Given the description of an element on the screen output the (x, y) to click on. 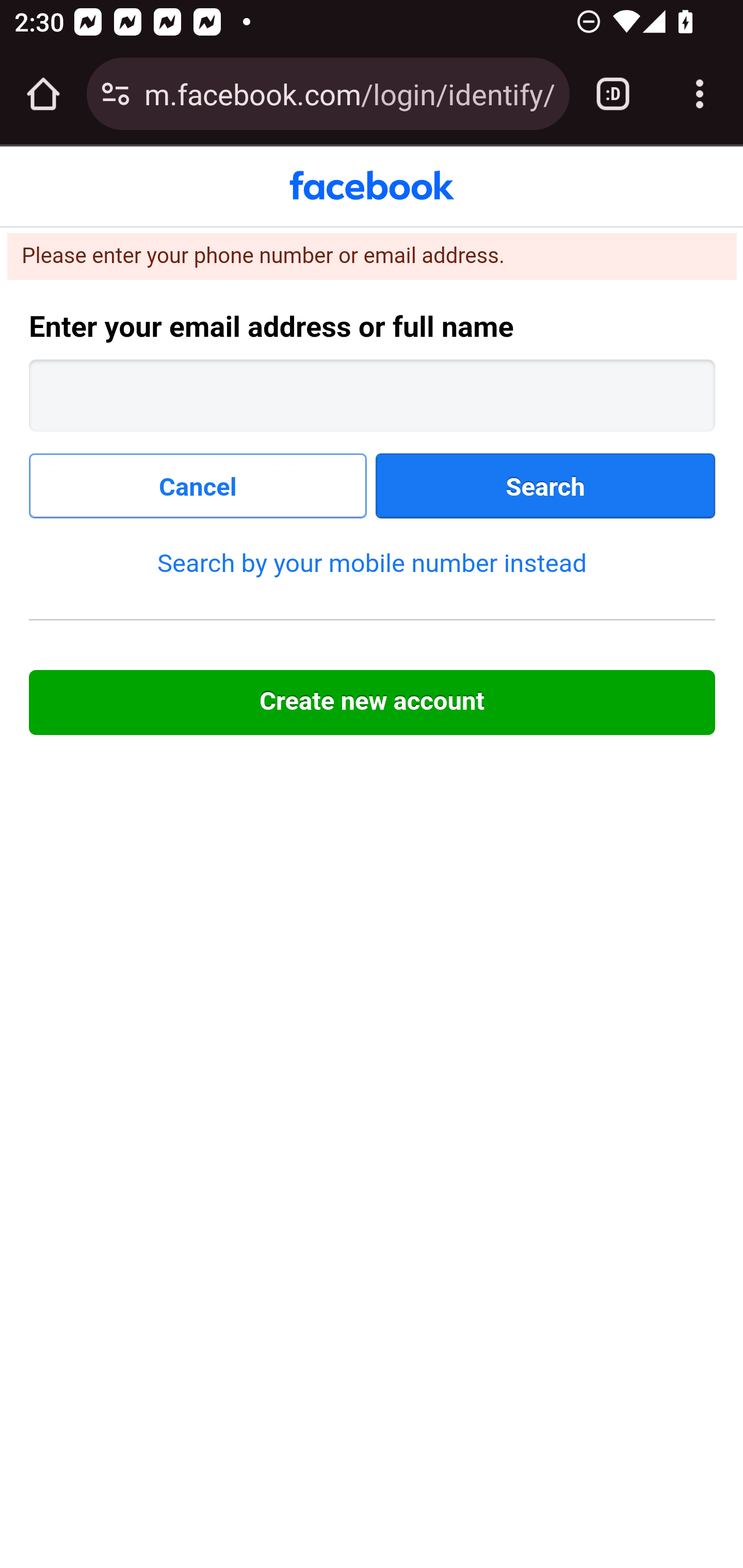
Open the home page (43, 93)
Connection is secure (115, 93)
Switch or close tabs (612, 93)
Customize and control Google Chrome (699, 93)
Facebook (371, 185)
Cancel (198, 485)
Search (545, 485)
Search by your mobile number instead (371, 562)
Create new account (372, 701)
